Given the description of an element on the screen output the (x, y) to click on. 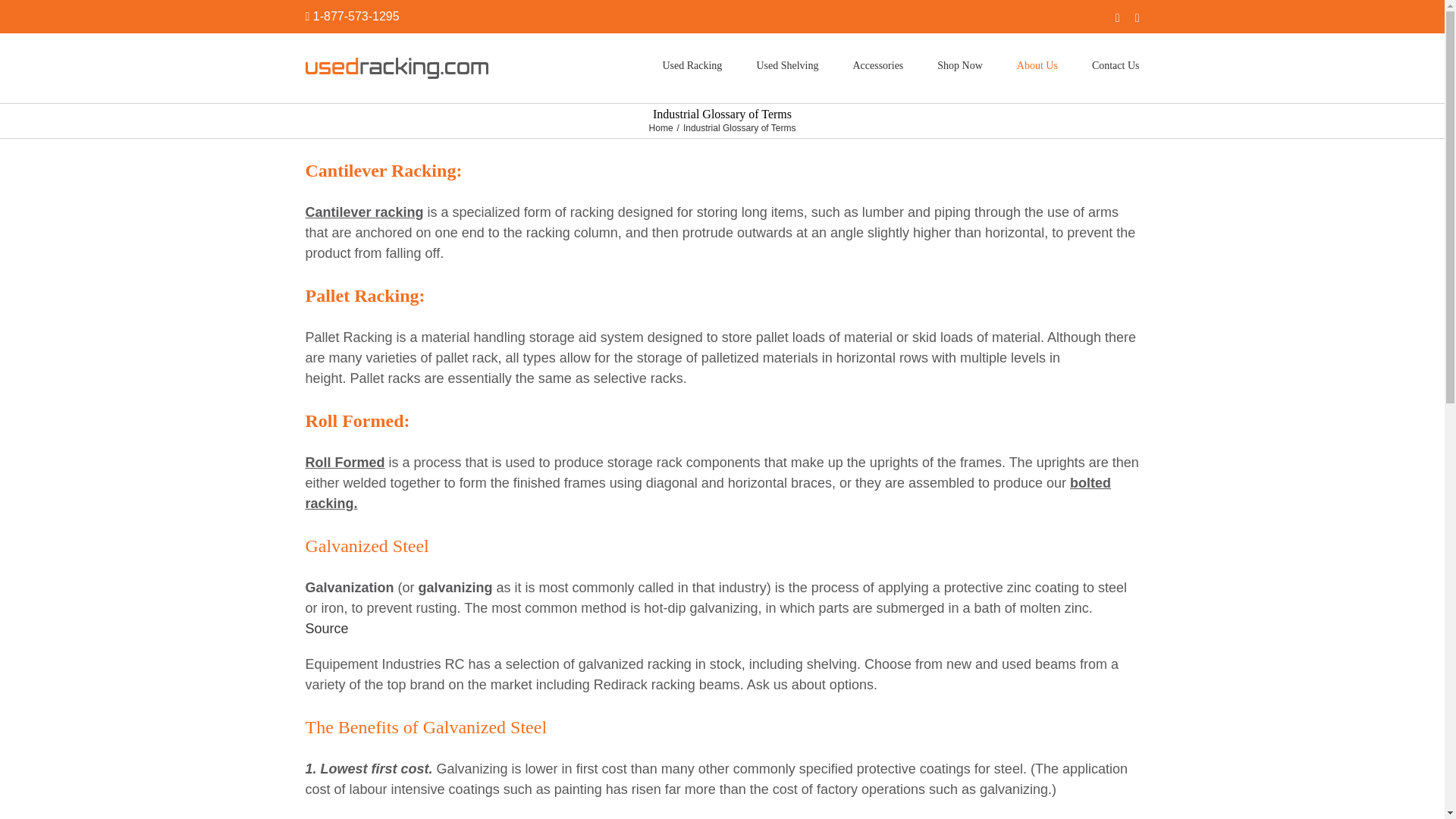
Home (660, 127)
1-877-573-1295 (355, 15)
Used Shelving (786, 65)
Used Racking (692, 65)
Source (325, 628)
